Given the description of an element on the screen output the (x, y) to click on. 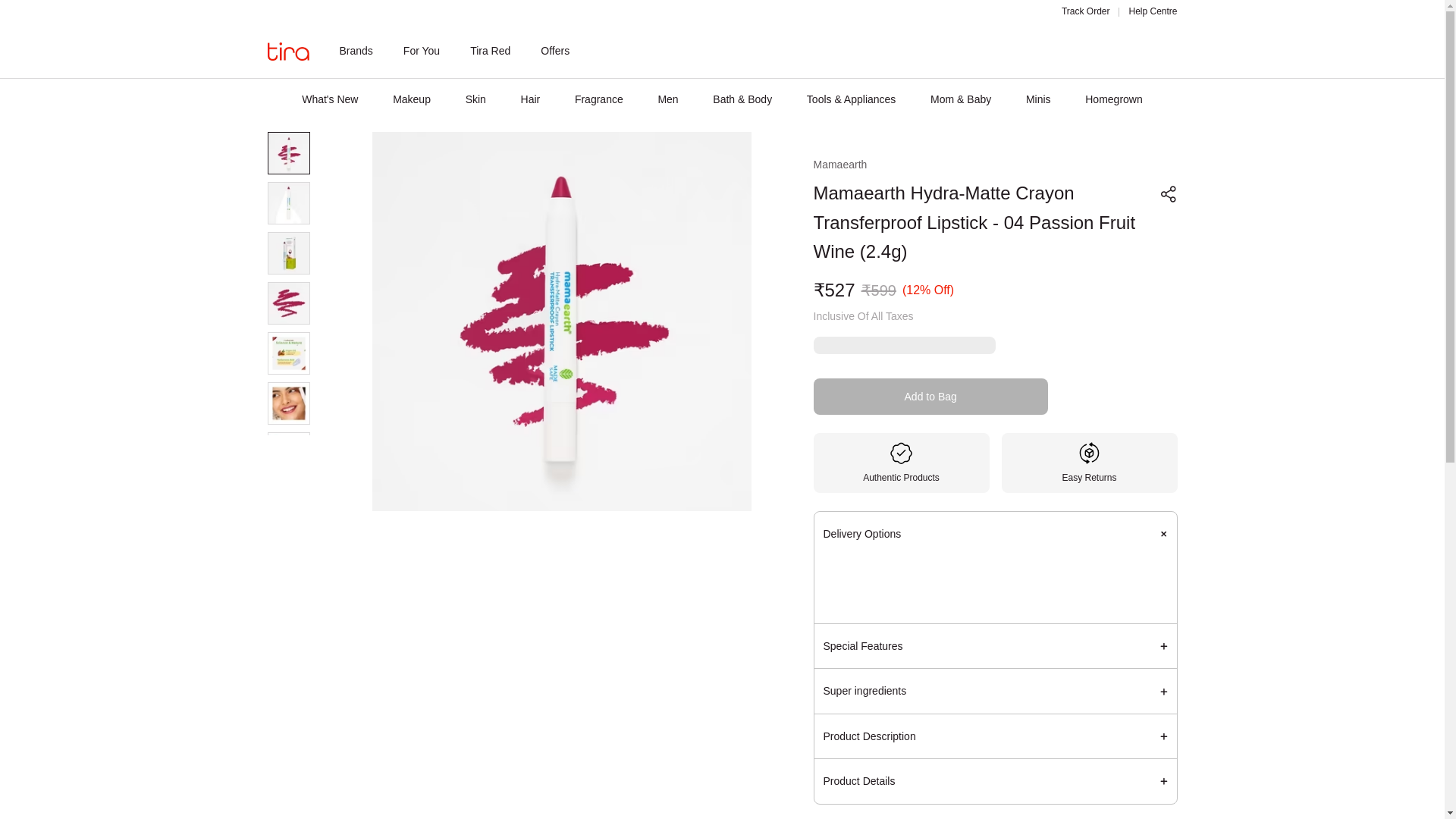
Easy Returns (1088, 463)
Add to Bag (929, 396)
Fragrance (599, 99)
What's New (329, 99)
Help Centre (1152, 11)
Homegrown (1112, 99)
Mamaearth (839, 164)
Track Order (1085, 11)
Makeup (411, 99)
